Given the description of an element on the screen output the (x, y) to click on. 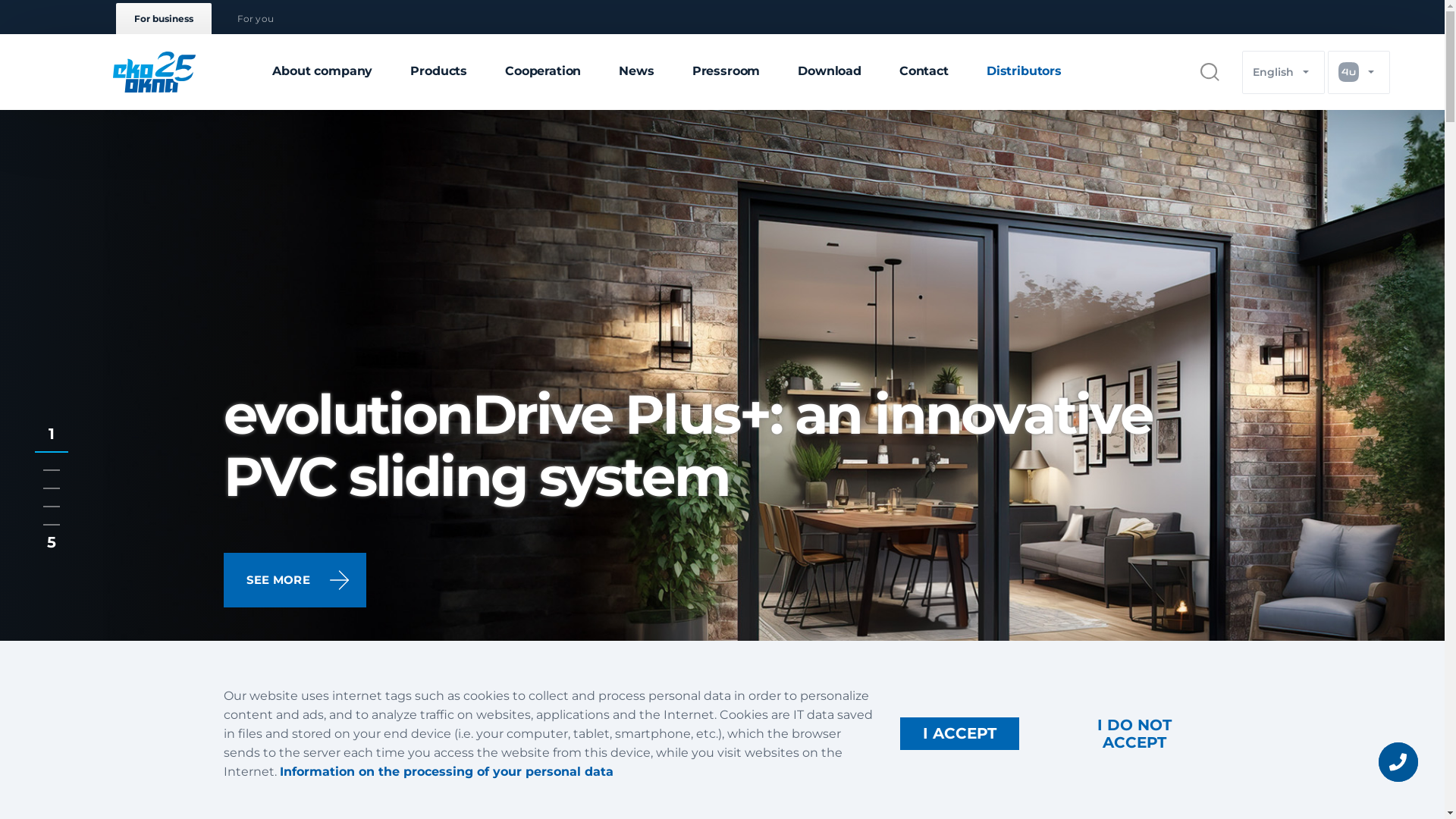
1 Element type: text (51, 442)
SEE MORE Element type: text (293, 579)
Pressroom Element type: text (726, 71)
About company Element type: text (322, 71)
5 Element type: text (51, 523)
Distributors Element type: text (1023, 71)
Contact Element type: text (923, 71)
Download Element type: text (829, 71)
Cooperation Element type: text (542, 71)
I ACCEPT Element type: text (959, 733)
For business Element type: text (163, 18)
For you Element type: text (255, 18)
News Element type: text (635, 71)
I DO NOT ACCEPT Element type: text (1133, 733)
Information on the processing of your personal data Element type: text (445, 771)
English Element type: text (1283, 71)
Products Element type: text (438, 71)
